Given the description of an element on the screen output the (x, y) to click on. 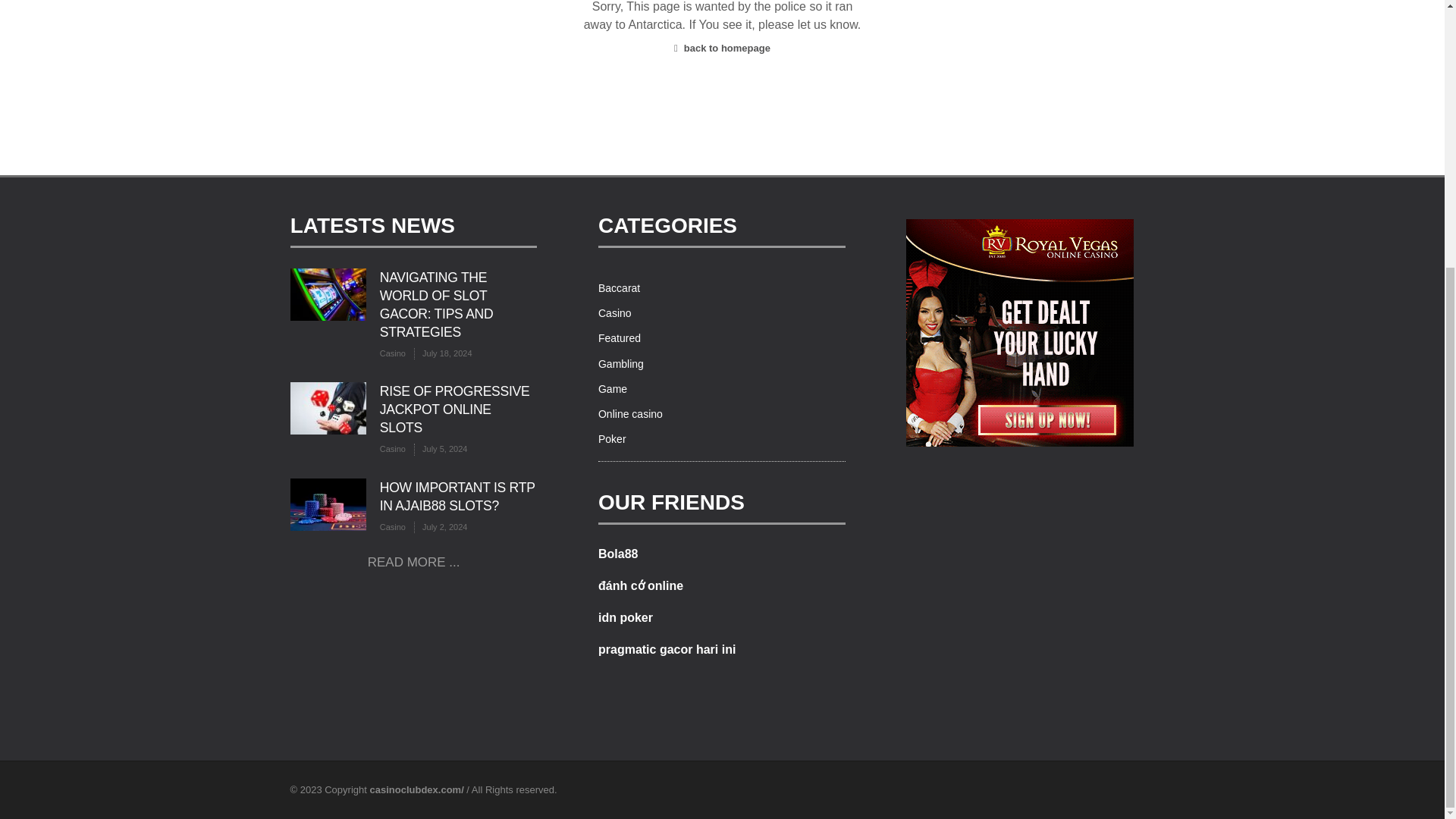
Casino (393, 527)
Online casino (630, 413)
Baccarat (619, 287)
Casino (393, 449)
Casino (614, 313)
NAVIGATING THE WORLD OF SLOT GACOR: TIPS AND STRATEGIES (436, 304)
July 2, 2024 (440, 527)
Poker (612, 439)
back to homepage (722, 48)
RISE OF PROGRESSIVE JACKPOT ONLINE SLOTS (454, 409)
Gambling (620, 363)
Featured (619, 337)
HOW IMPORTANT IS RTP IN AJAIB88 SLOTS? (457, 496)
Bola88 (617, 553)
Casino (393, 353)
